Given the description of an element on the screen output the (x, y) to click on. 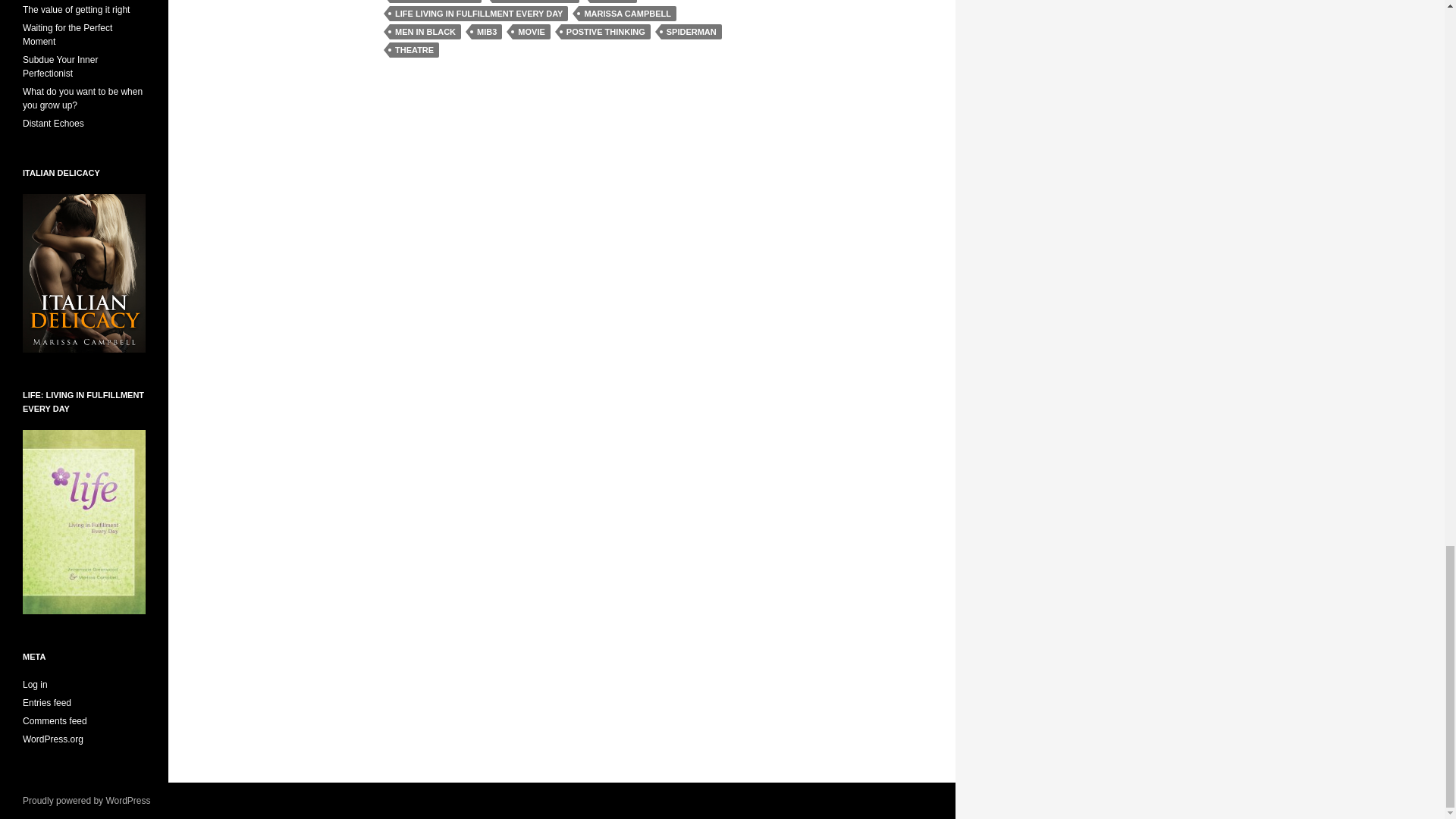
A PASSIONATE LIFE (435, 1)
THEATRE (414, 49)
MARISSA CAMPBELL (626, 13)
MEN IN BLACK (425, 31)
MOVIE (531, 31)
SPIDERMAN (691, 31)
DOUBLE FEATURE (535, 1)
POSTIVE THINKING (605, 31)
DRIVE-IN (613, 1)
LIFE LIVING IN FULFILLMENT EVERY DAY (478, 13)
MIB3 (486, 31)
